Given the description of an element on the screen output the (x, y) to click on. 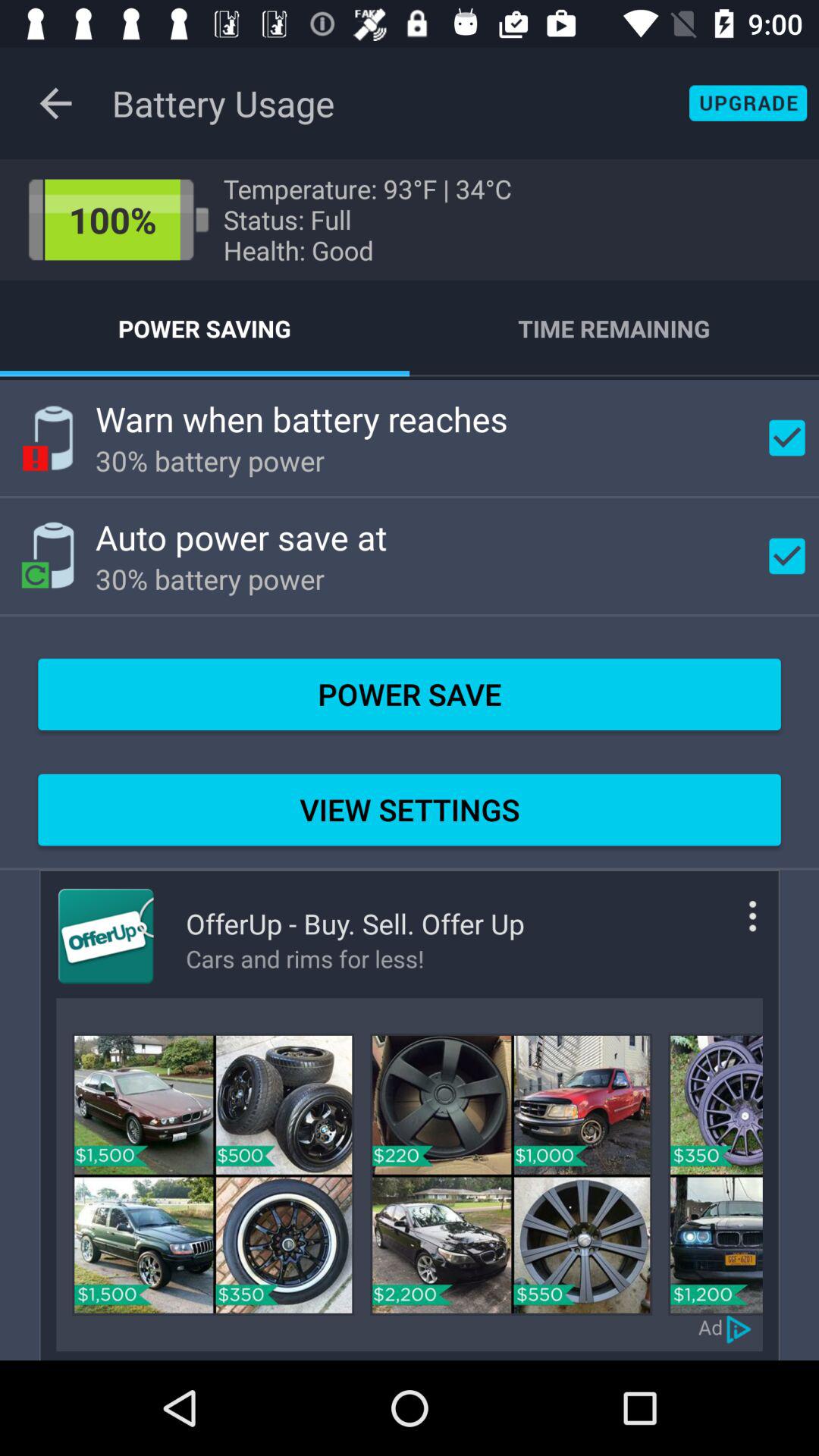
turn off icon next to battery usage item (55, 103)
